Given the description of an element on the screen output the (x, y) to click on. 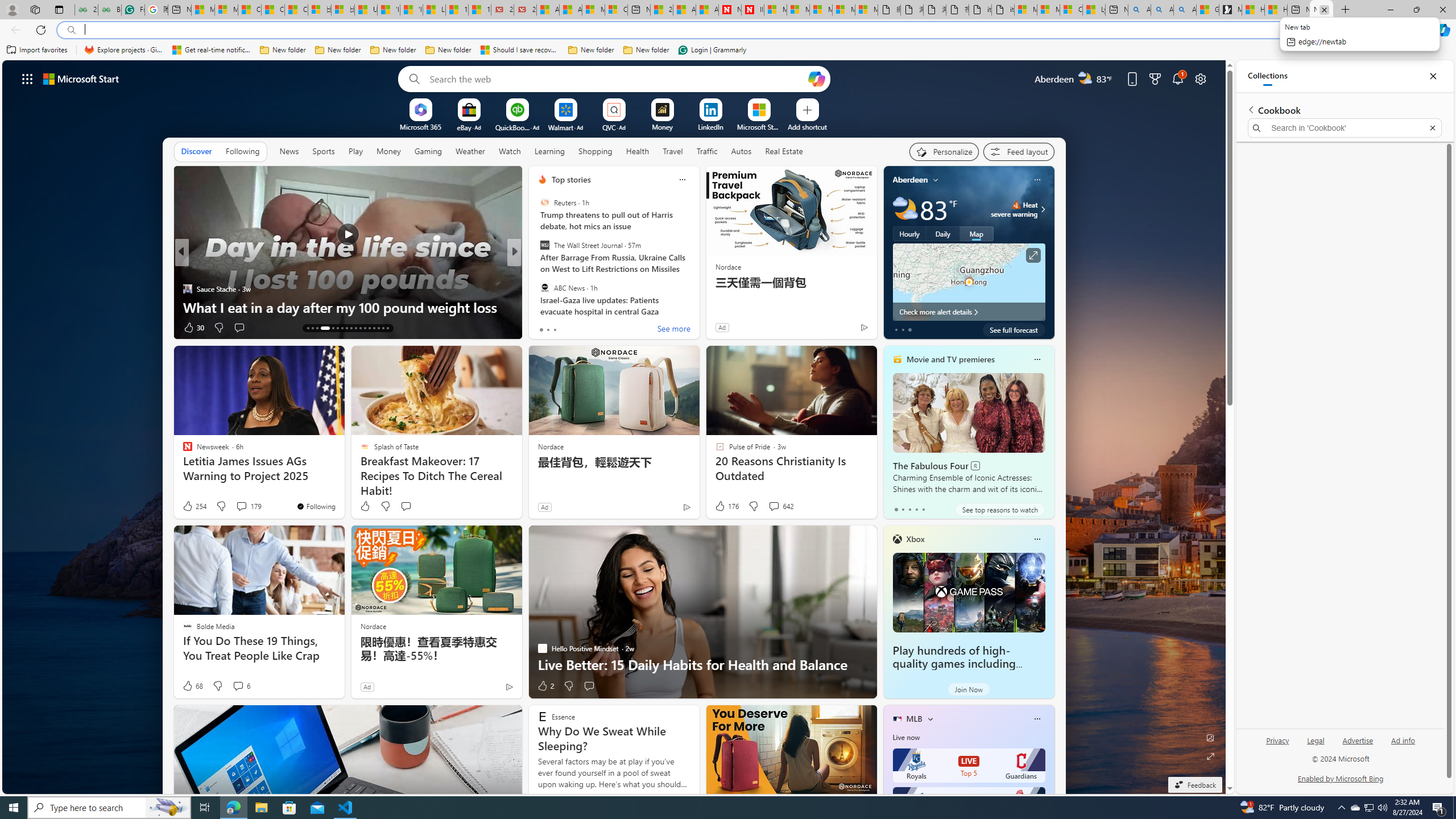
83 Like (543, 327)
Sports (323, 151)
Alabama high school quarterback dies - Search (1139, 9)
AutomationID: tab-26 (374, 328)
View comments 4 Comment (585, 327)
tab-4 (923, 509)
See full forecast (1013, 329)
The Best Way To Keep Bananas From Turning Brown Too Fast (697, 298)
AutomationID: tab-23 (360, 328)
View comments 6 Comment (240, 685)
